Given the description of an element on the screen output the (x, y) to click on. 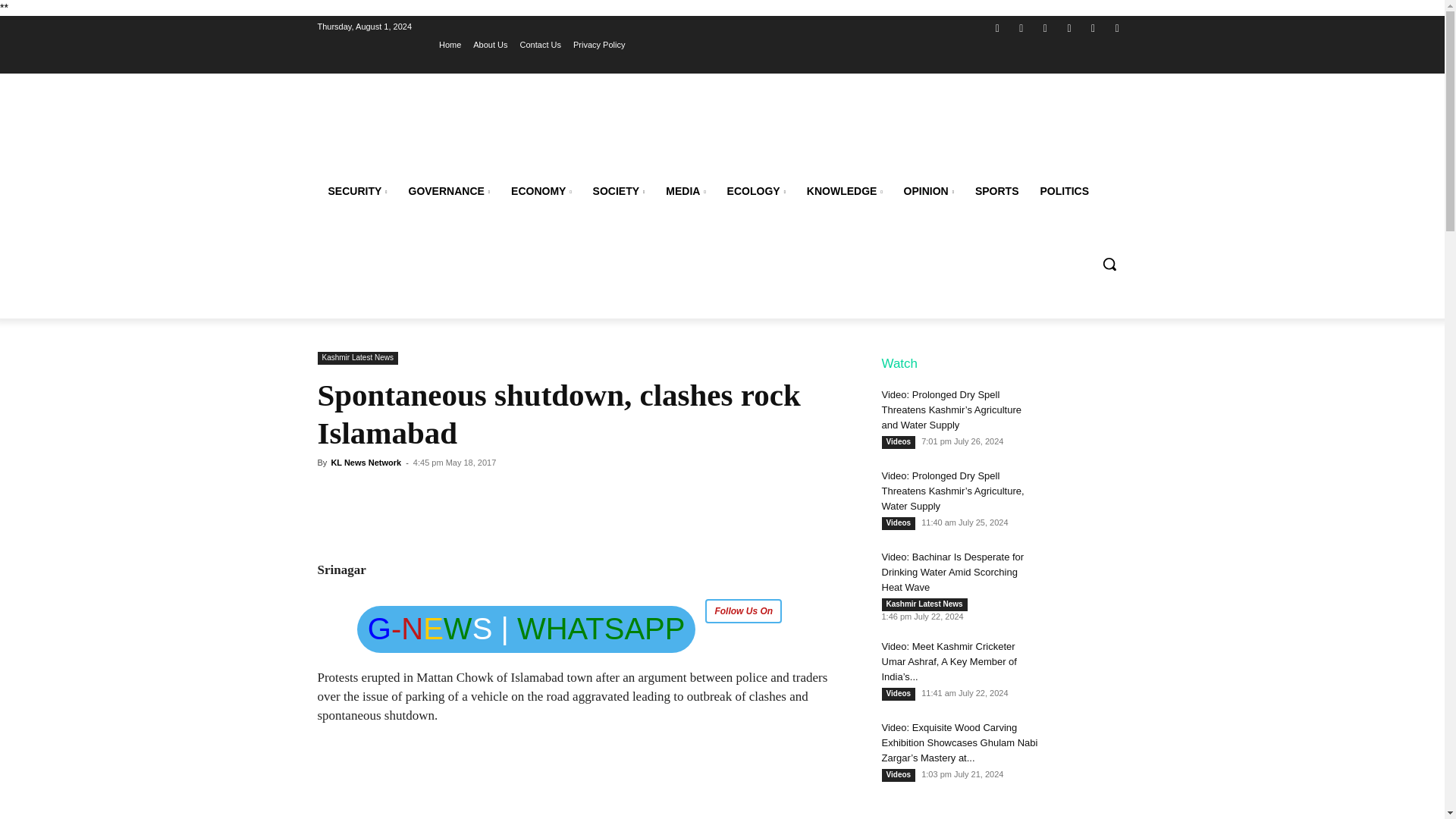
WhatsApp (1093, 28)
Website (1069, 28)
Facebook (997, 28)
Youtube (1116, 28)
Twitter (1045, 28)
Instagram (1021, 28)
